Given the description of an element on the screen output the (x, y) to click on. 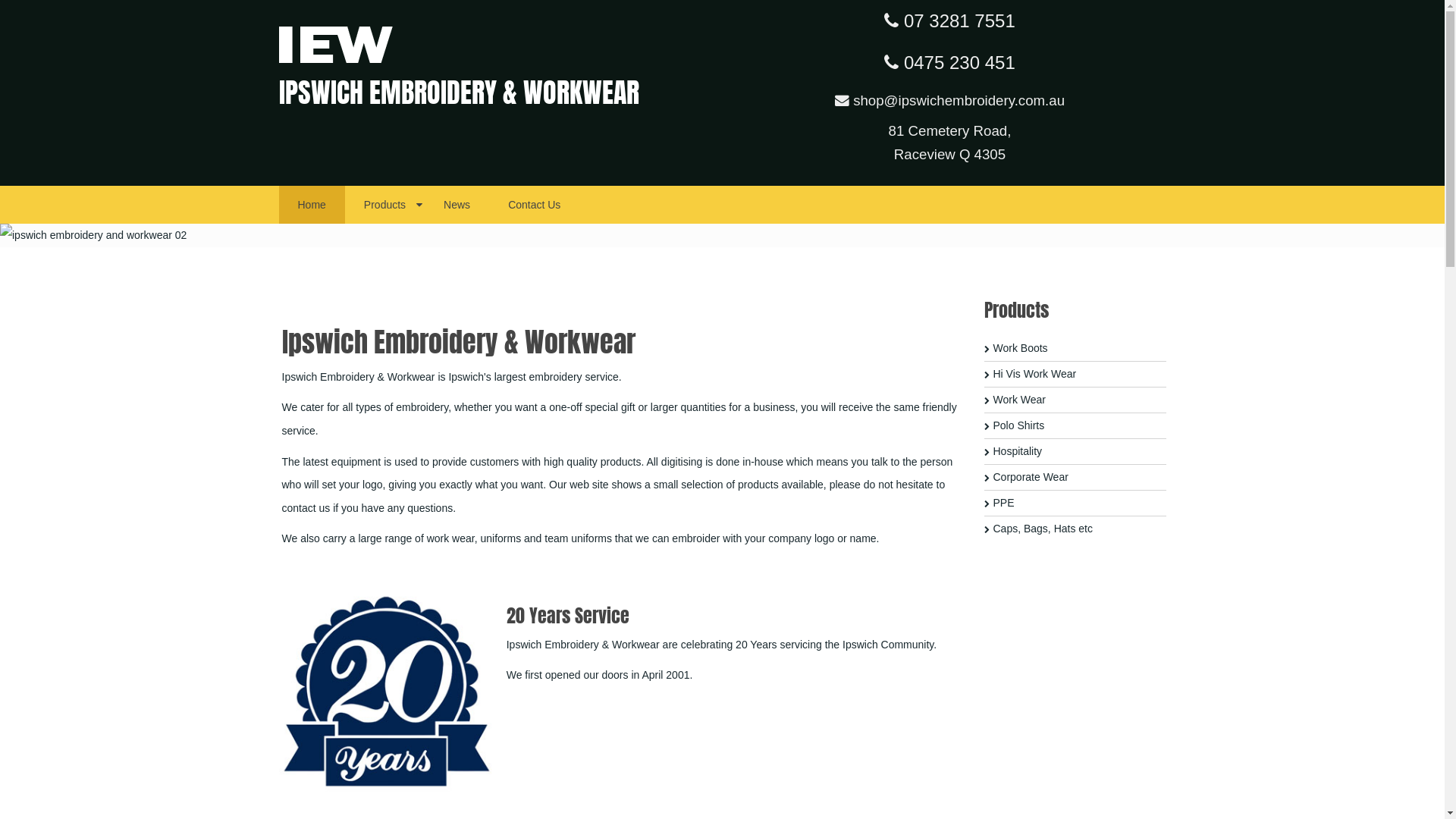
07 3281 7551 Element type: text (949, 20)
Work Boots Element type: text (1075, 348)
shop@ipswichembroidery.com.au Element type: text (949, 100)
Contact Us Element type: text (534, 204)
0475 230 451 Element type: text (949, 62)
Polo Shirts Element type: text (1075, 426)
Corporate Wear Element type: text (1075, 477)
Hi Vis Work Wear Element type: text (1075, 374)
Hospitality Element type: text (1075, 451)
News Element type: text (456, 204)
Caps, Bags, Hats etc Element type: text (1075, 528)
PPE Element type: text (1075, 503)
Home Element type: text (312, 204)
Ipswich Embroidery & Workwear Element type: hover (335, 42)
Work Wear Element type: text (1075, 400)
Products Element type: text (384, 204)
